Given the description of an element on the screen output the (x, y) to click on. 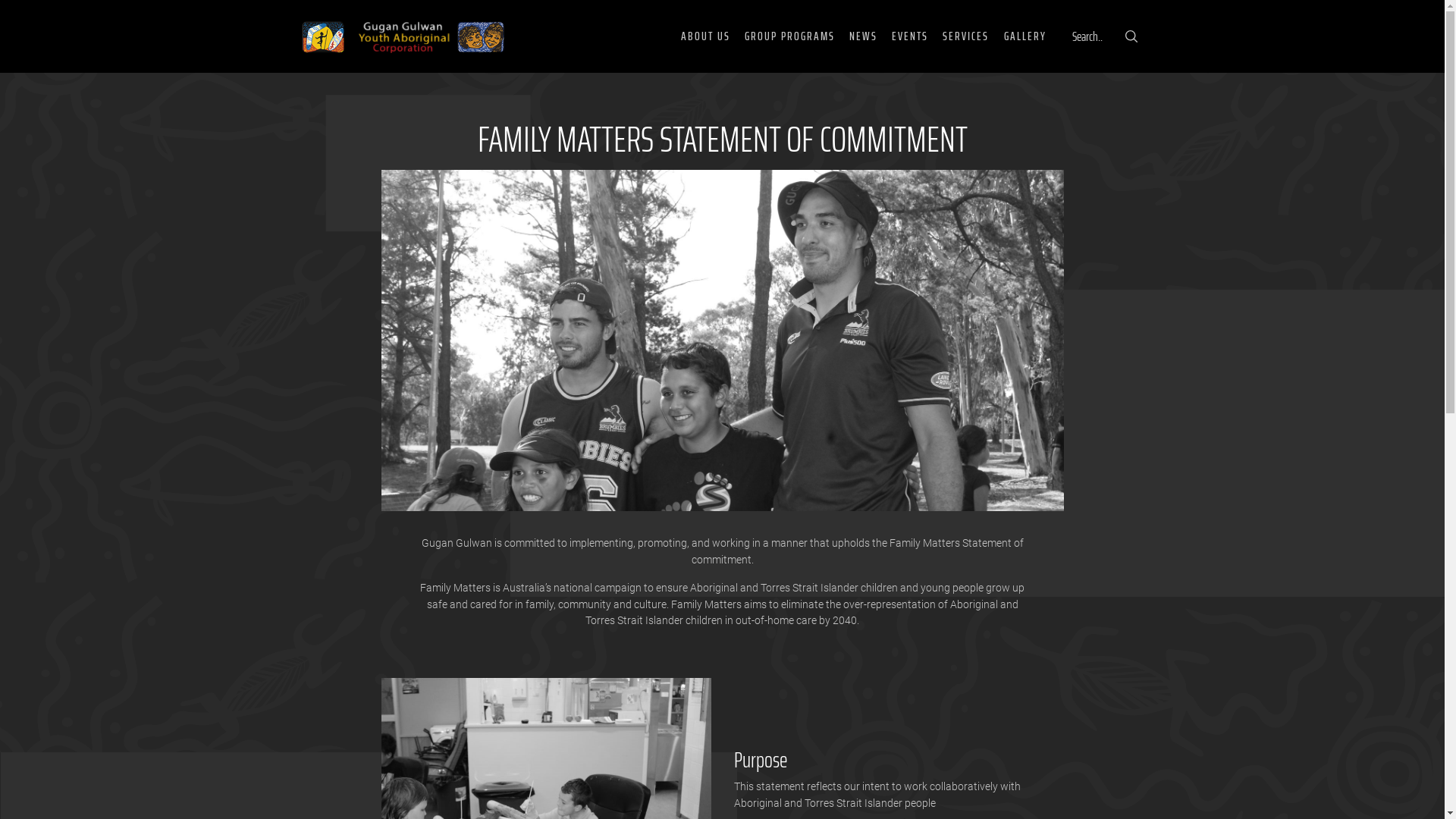
GROUP PROGRAMS Element type: text (789, 35)
NEWS Element type: text (863, 35)
ABOUT US Element type: text (705, 35)
GALLERY Element type: text (1025, 35)
SERVICES Element type: text (965, 35)
EVENTS Element type: text (909, 35)
